Given the description of an element on the screen output the (x, y) to click on. 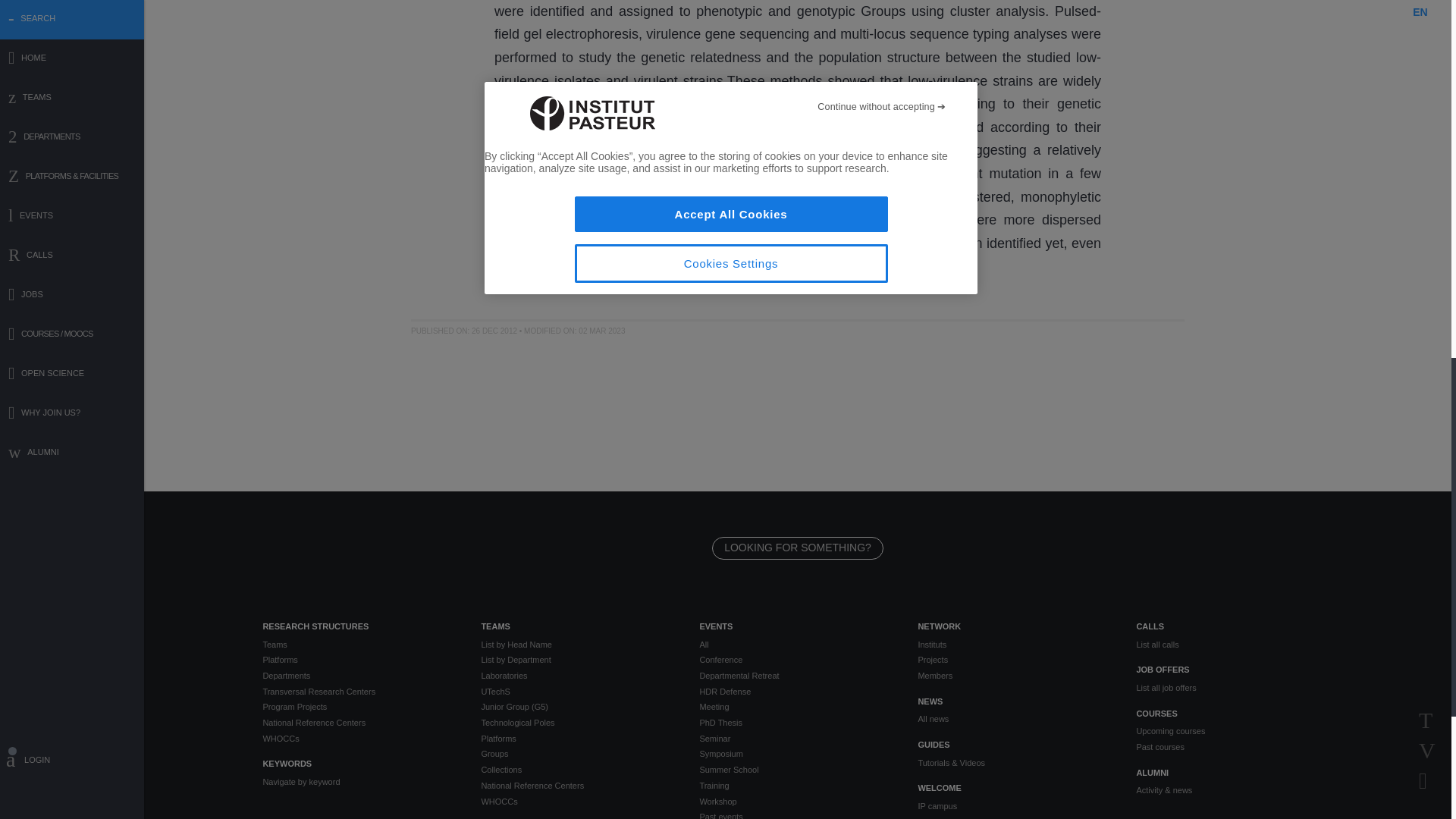
Teams (360, 644)
Platforms (360, 659)
